Given the description of an element on the screen output the (x, y) to click on. 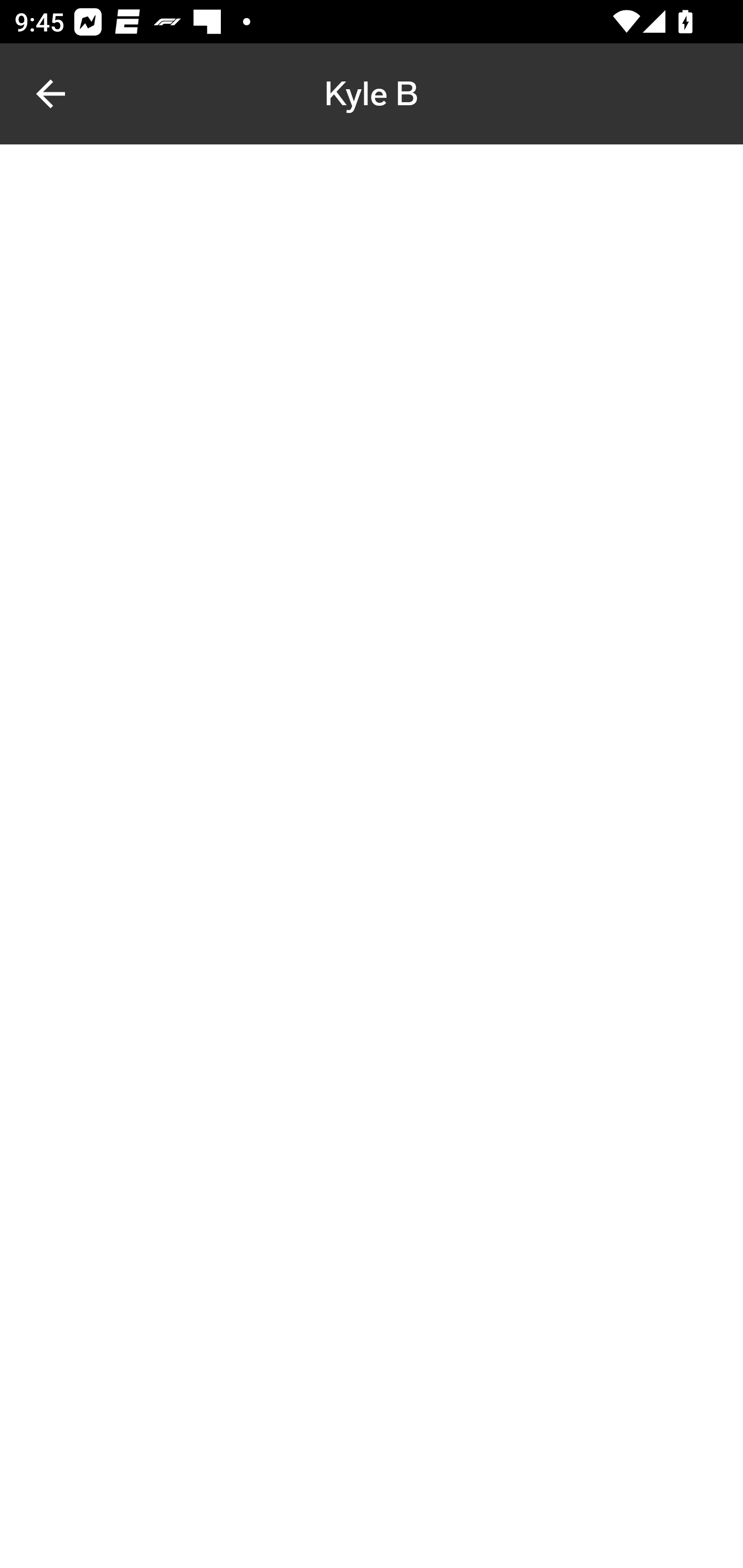
Back (50, 93)
